Given the description of an element on the screen output the (x, y) to click on. 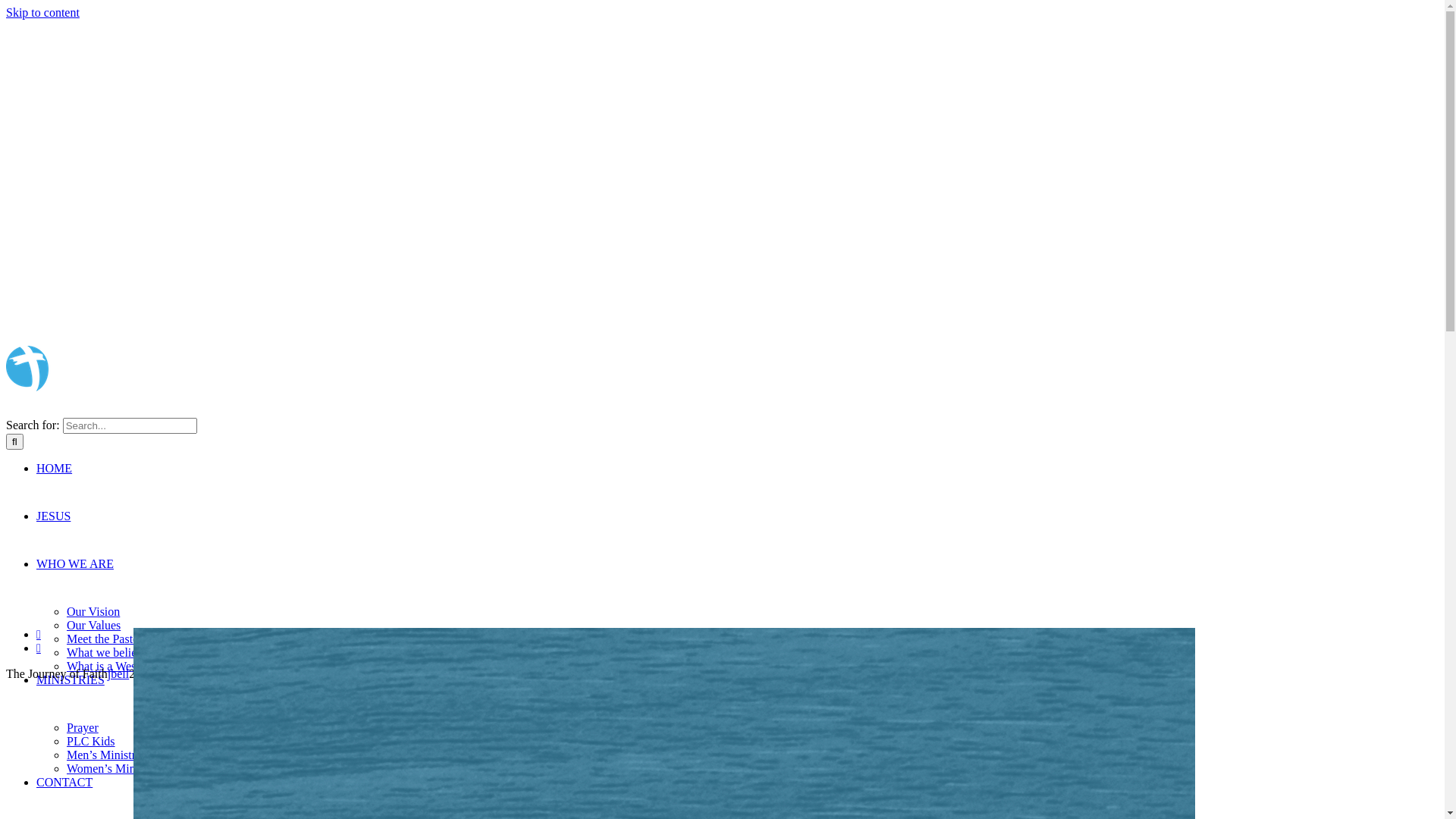
MINISTRIES Element type: text (70, 697)
Prayer Element type: text (82, 727)
jbell Element type: text (117, 673)
WHO WE ARE Element type: text (74, 581)
Meet the Pastor Element type: text (104, 638)
Our Values Element type: text (93, 624)
PLC Kids Element type: text (90, 740)
Our Vision Element type: text (92, 611)
What is a Wesleyan? Element type: text (116, 665)
JESUS Element type: text (53, 533)
What we believe Element type: text (107, 652)
HOME Element type: text (54, 485)
Skip to content Element type: text (42, 12)
